Given the description of an element on the screen output the (x, y) to click on. 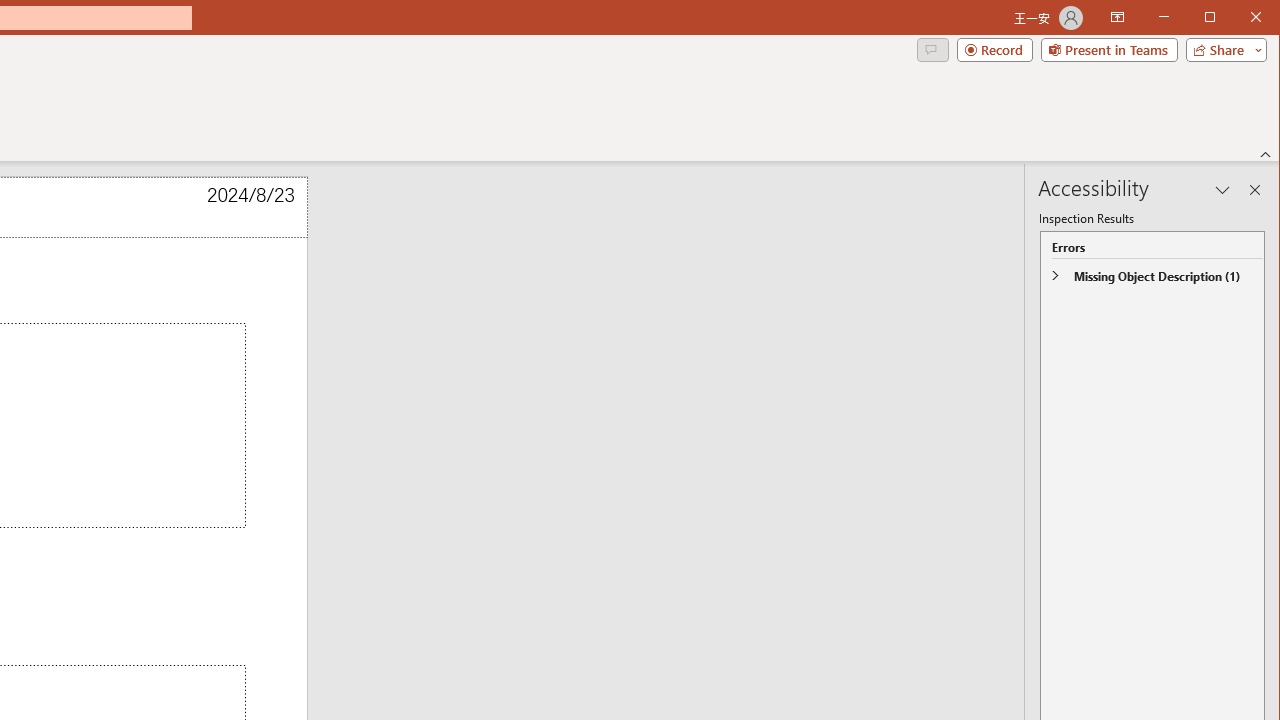
Maximize (1238, 18)
